Given the description of an element on the screen output the (x, y) to click on. 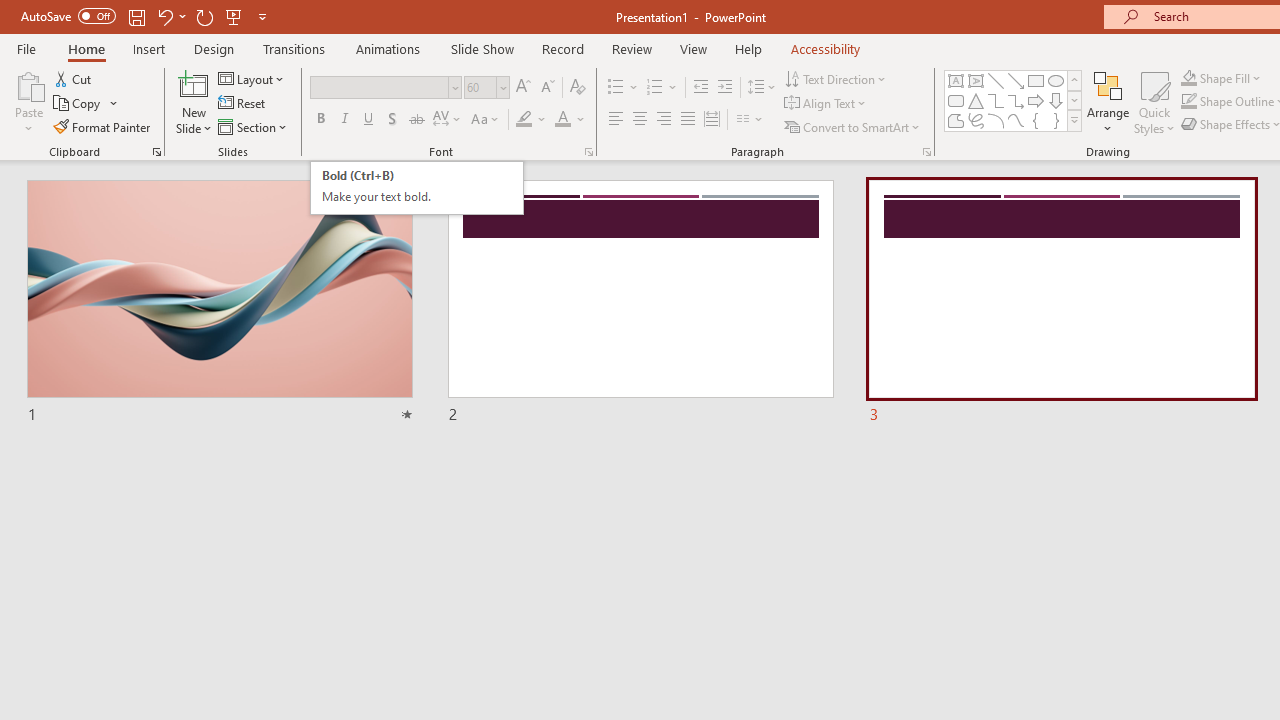
Center (639, 119)
Rectangle (1035, 80)
Text Highlight Color Yellow (524, 119)
Paste (28, 84)
Character Spacing (447, 119)
Clear Formatting (577, 87)
New Slide (193, 102)
Line Spacing (762, 87)
Section (254, 126)
Transitions (294, 48)
Row Down (1074, 100)
Italic (344, 119)
Slide (1061, 302)
Class: NetUIImage (1075, 120)
Save (136, 15)
